Given the description of an element on the screen output the (x, y) to click on. 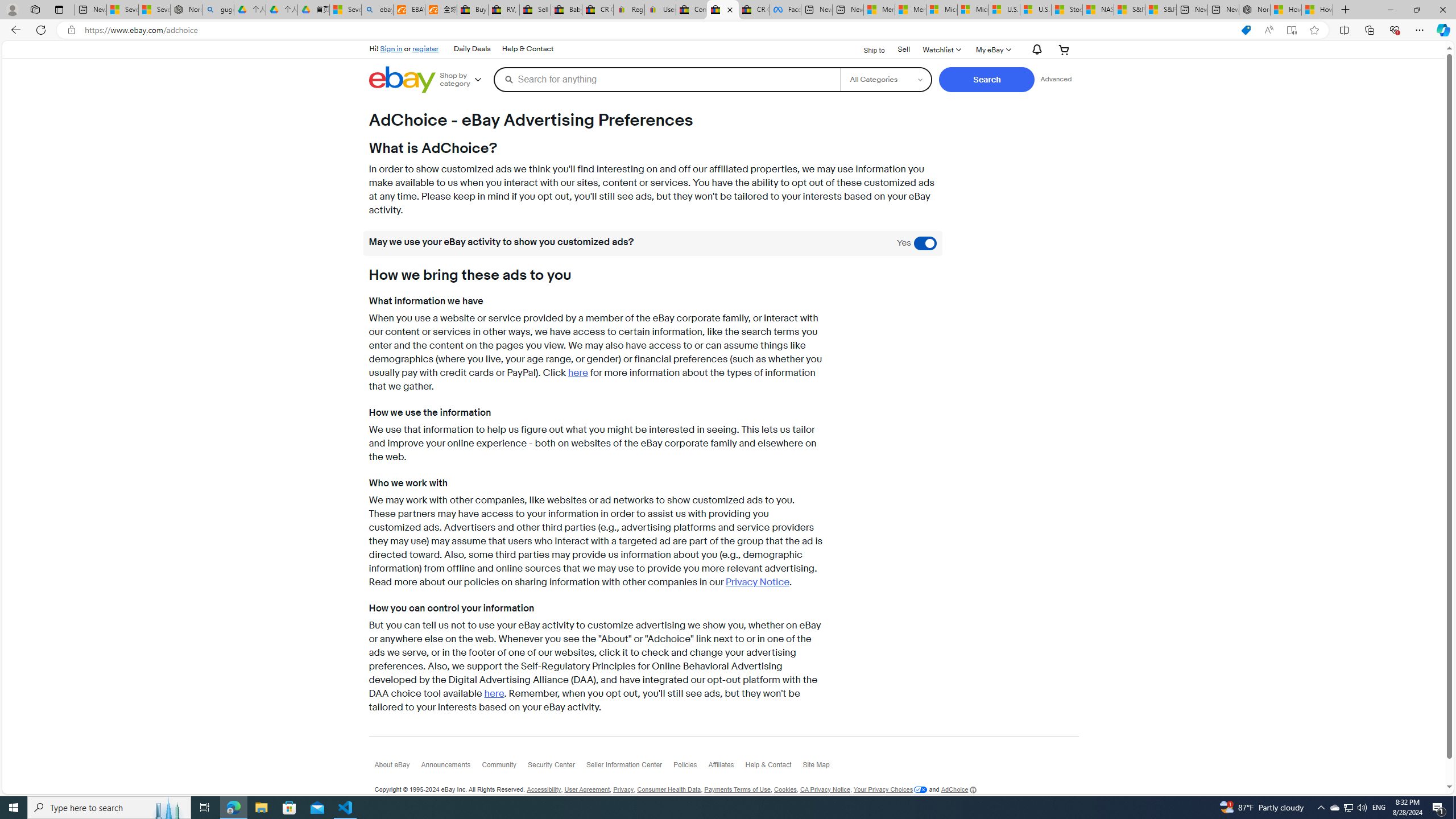
Community (504, 767)
Watchlist (940, 49)
Enter Immersive Reader (F9) (1291, 29)
AutomationID: gh-eb-Alerts (1035, 49)
Privacy Notice (757, 582)
User Agreement (587, 789)
Your Privacy Choices (890, 789)
Security Center (556, 767)
